Given the description of an element on the screen output the (x, y) to click on. 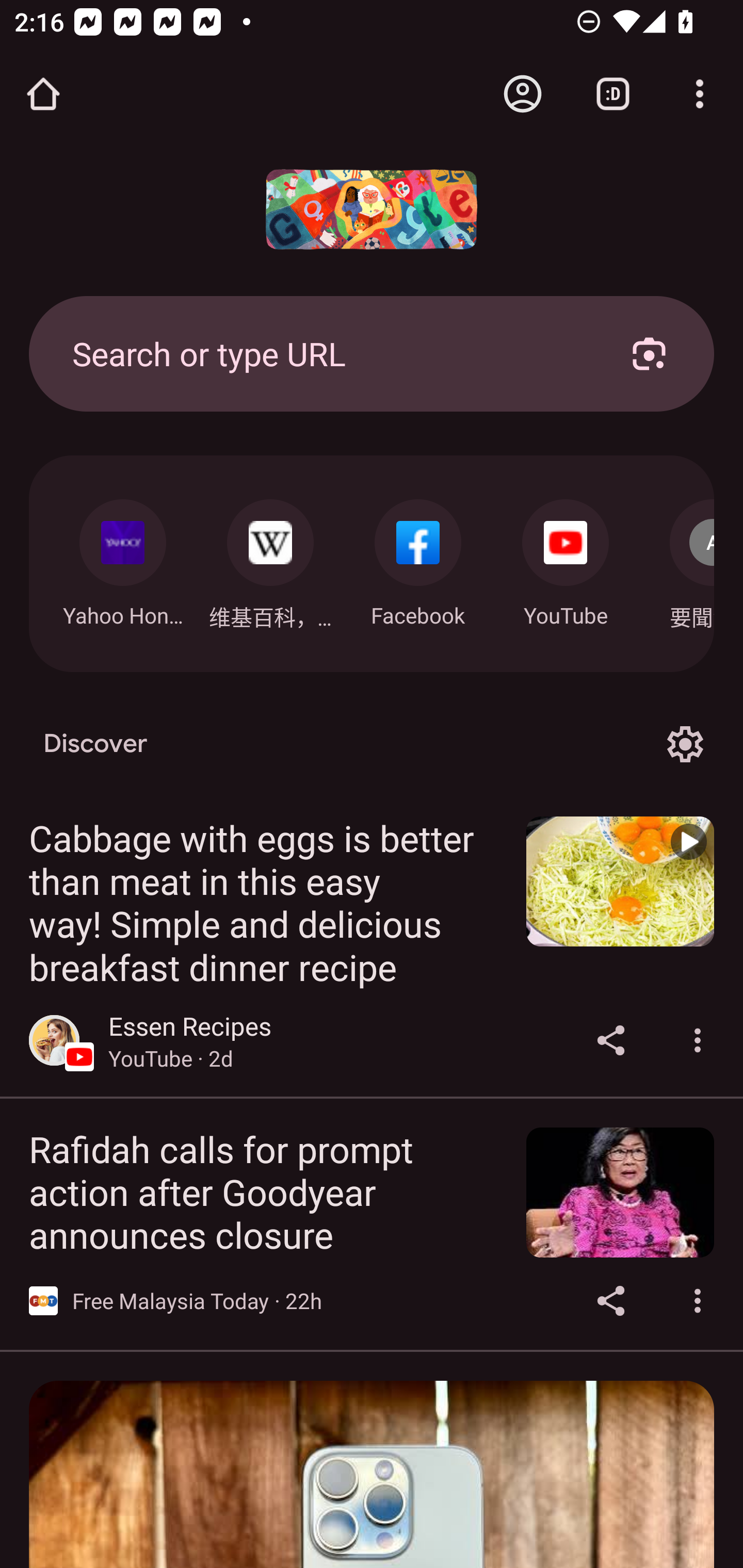
Open the home page (43, 93)
Switch or close tabs (612, 93)
Customize and control Google Chrome (699, 93)
Google doodle: 2024 年國際婦女節 (371, 209)
Search or type URL (327, 353)
Search with your camera using Google Lens (648, 353)
Navigate: Facebook: m.facebook.com Facebook (417, 558)
Navigate: YouTube: m.youtube.com YouTube (565, 558)
Navigate: 要聞港聞: hk.news.appledaily.com 要聞港聞 (677, 558)
Options for Discover (684, 743)
